Given the description of an element on the screen output the (x, y) to click on. 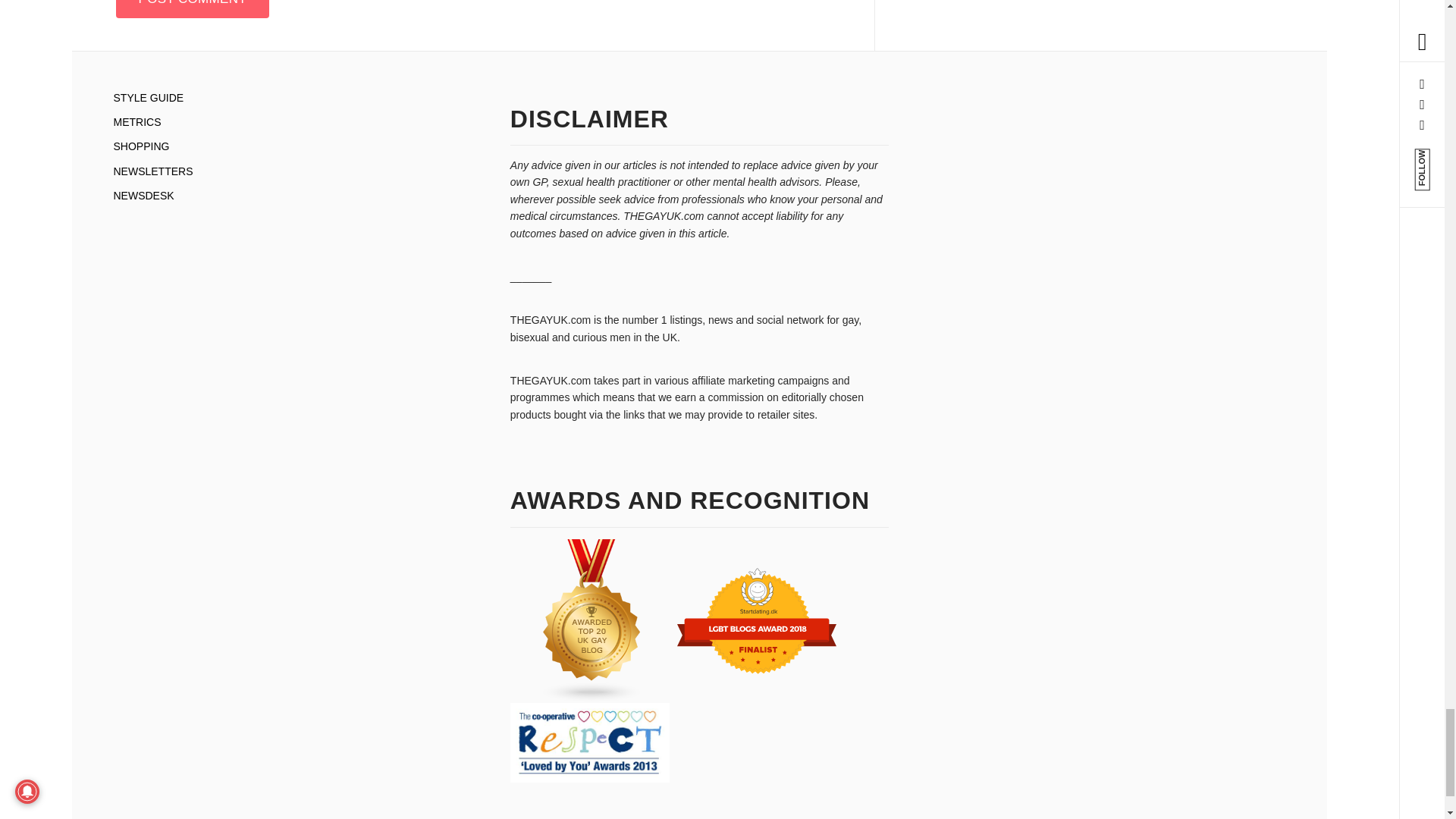
Post Comment (192, 9)
